Given the description of an element on the screen output the (x, y) to click on. 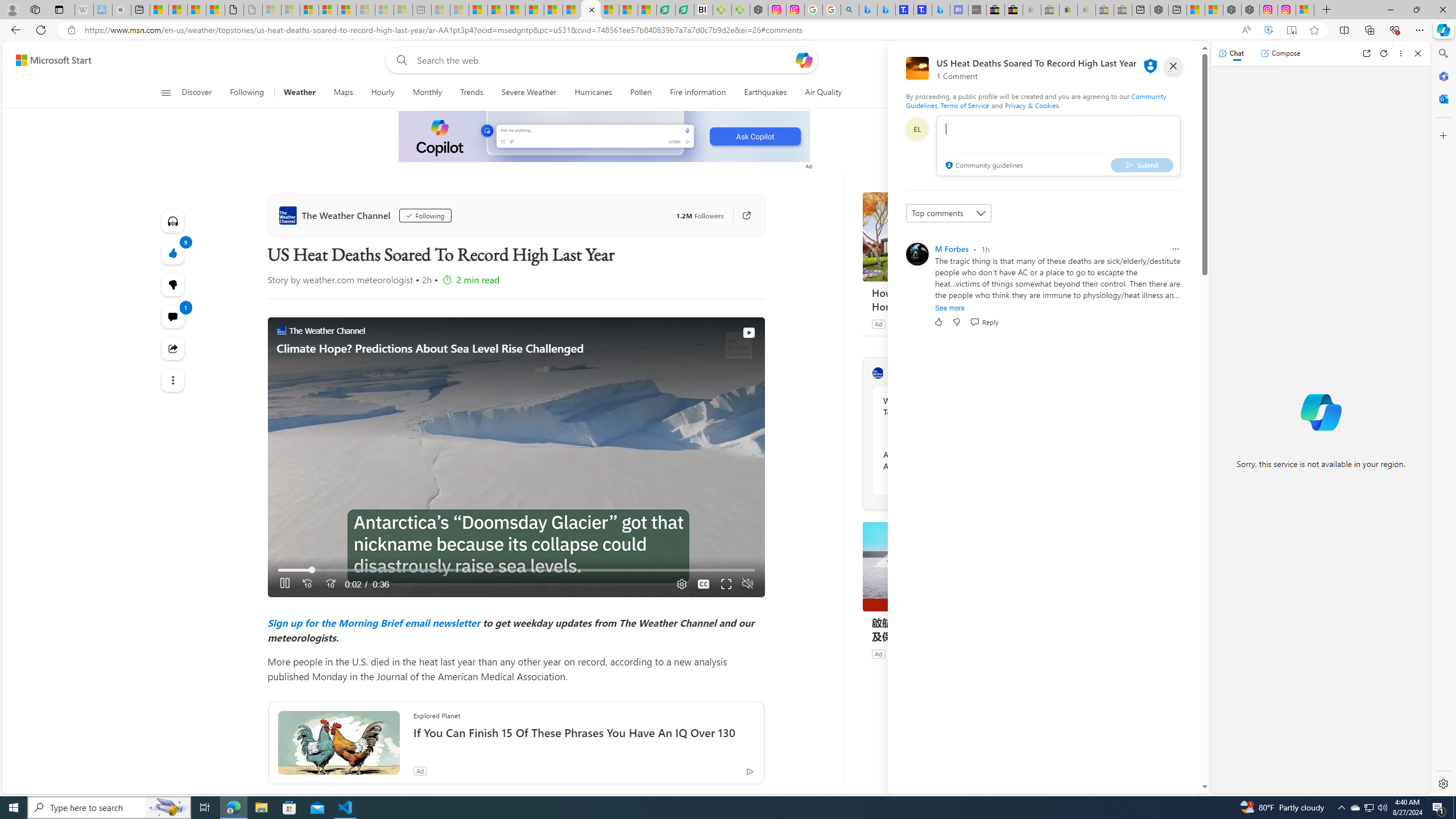
Sign in to your Microsoft account - Sleeping (271, 9)
Maps (343, 92)
Profile Picture (916, 254)
Like (937, 321)
Air Quality (824, 92)
Compose (1280, 52)
9 Like (172, 252)
